Given the description of an element on the screen output the (x, y) to click on. 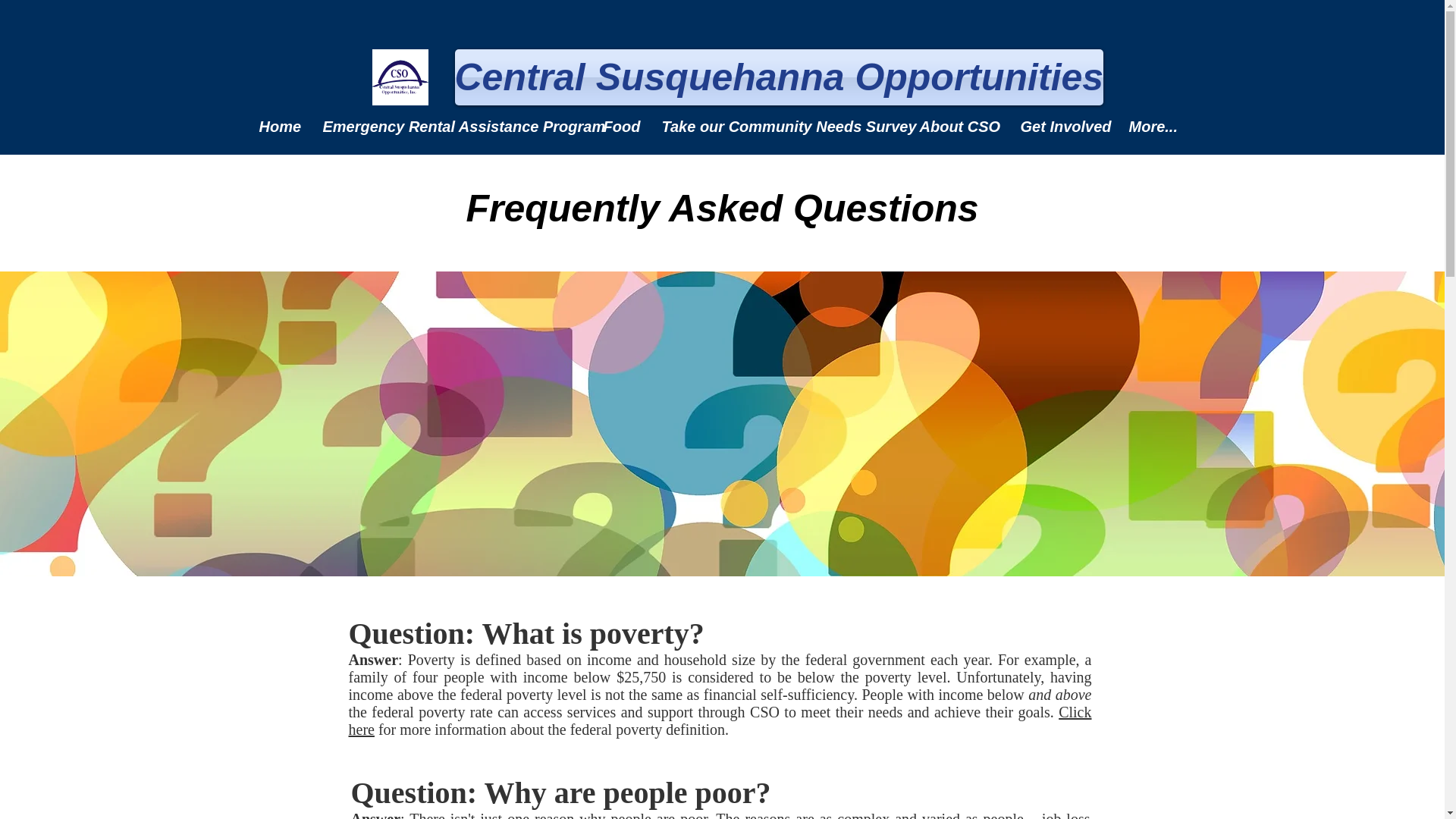
Take our Community Needs Survey (779, 126)
Get Involved (1062, 126)
Click here (720, 720)
Food (620, 126)
About CSO (958, 126)
Central Susquehanna Opportunities (778, 77)
Emergency Rental Assistance Program (451, 126)
Home (279, 126)
